Given the description of an element on the screen output the (x, y) to click on. 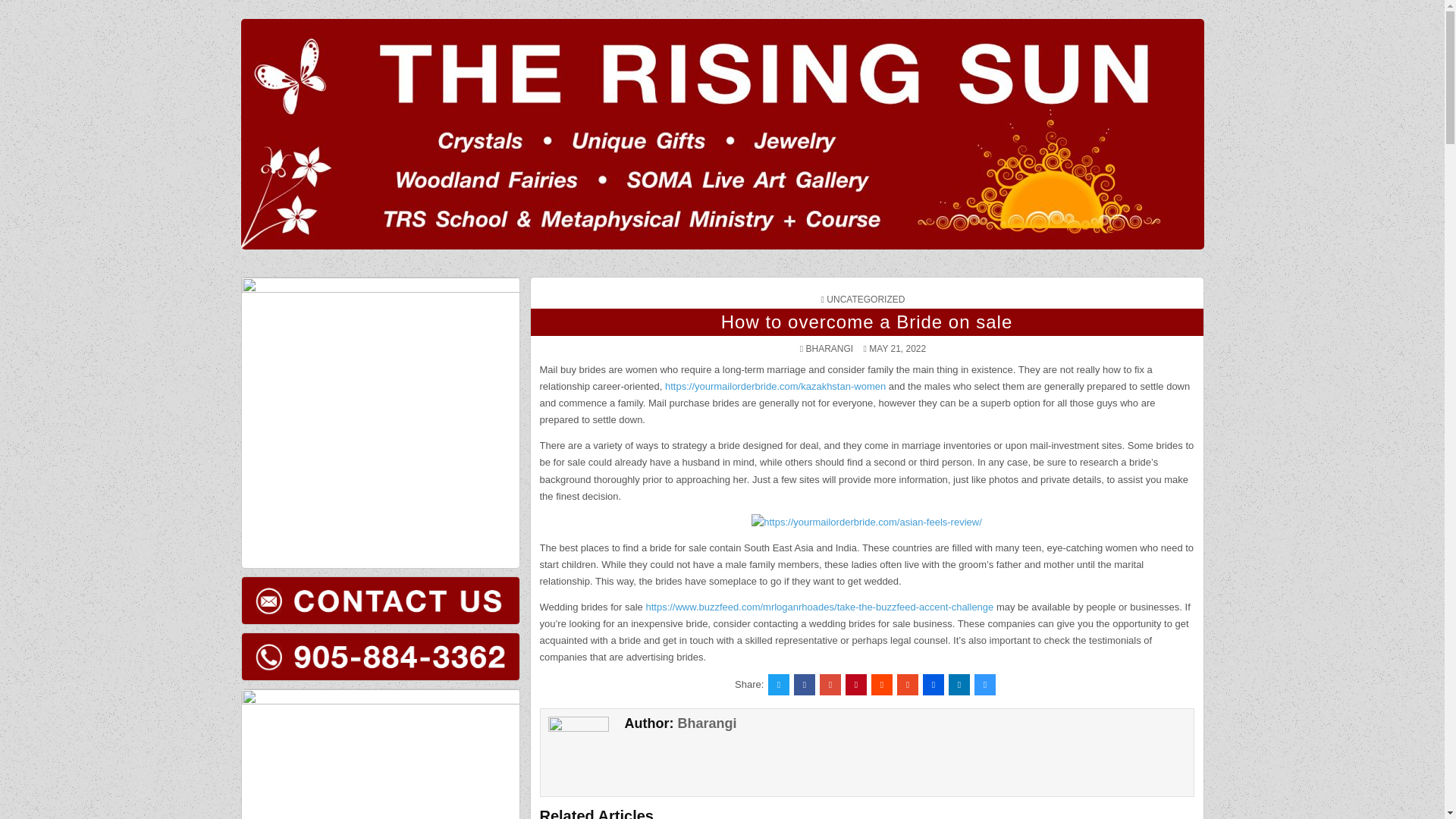
Share this on Reddit (881, 683)
Bharangi (706, 723)
Share this on Delicious (984, 683)
Tweet This! (778, 683)
Share this on Stumbleupon (907, 683)
Share this on Linkedin (959, 683)
Share this on Pinterest (855, 683)
Share this on Digg (933, 683)
How to overcome a Bride on sale (866, 322)
Share this on Facebook (804, 683)
